Given the description of an element on the screen output the (x, y) to click on. 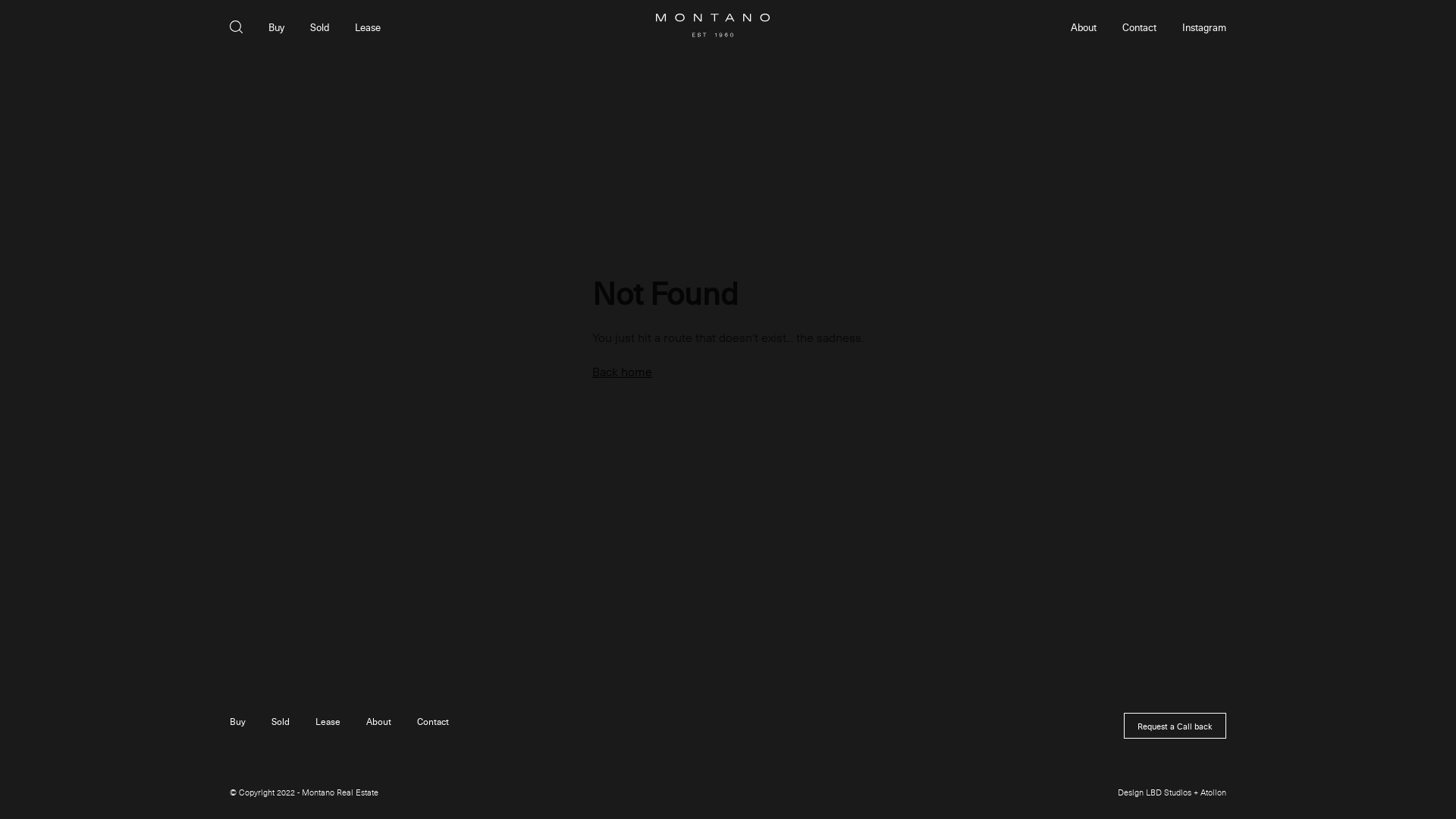
About Element type: text (1083, 27)
LBD Studios Element type: text (1168, 792)
Buy Element type: text (237, 721)
Lease Element type: text (367, 27)
Buy Element type: text (276, 27)
Instagram Element type: text (1204, 27)
Contact Element type: text (1139, 27)
Contact Element type: text (432, 721)
Sold Element type: text (319, 27)
Atollon Element type: text (1213, 792)
About Element type: text (378, 721)
Sold Element type: text (280, 721)
Back home Element type: text (622, 371)
Lease Element type: text (327, 721)
